Given the description of an element on the screen output the (x, y) to click on. 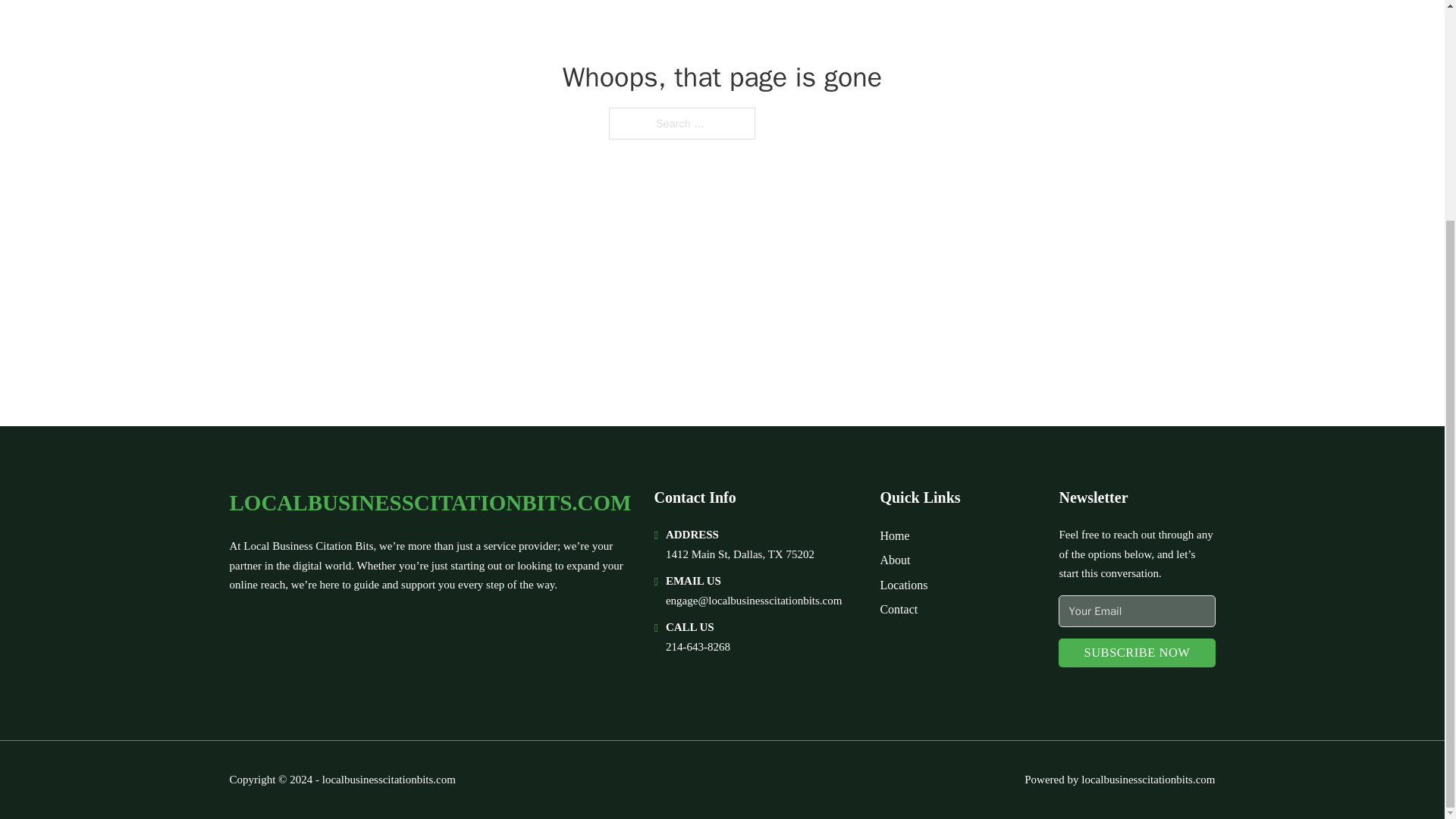
214-643-8268 (697, 646)
About (894, 559)
Contact (898, 608)
Locations (903, 584)
LOCALBUSINESSCITATIONBITS.COM (429, 502)
SUBSCRIBE NOW (1136, 653)
Home (893, 535)
